Given the description of an element on the screen output the (x, y) to click on. 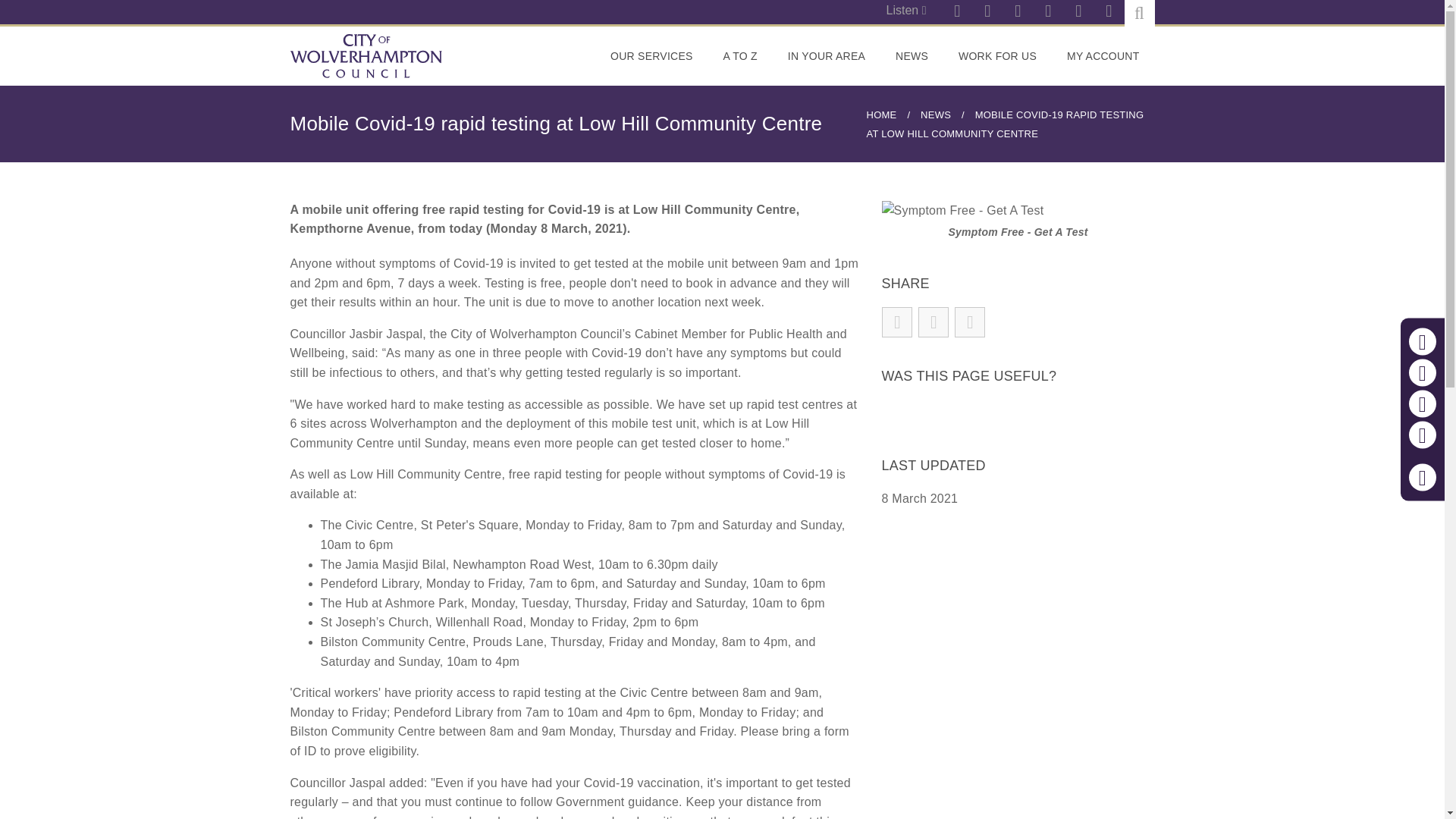
Decrease font size (1422, 372)
Yes (892, 413)
NEWS (911, 56)
Contrast (1422, 434)
This is an external link and opens in a new browser window. (997, 56)
Zoom in (1422, 340)
WORK FOR US (997, 56)
Our services (651, 56)
Twitter (1047, 12)
Zoom out (1422, 372)
Flickr (1017, 12)
Share to Facebook (897, 322)
Home (365, 55)
Reset (1422, 402)
A to Z (740, 56)
